Given the description of an element on the screen output the (x, y) to click on. 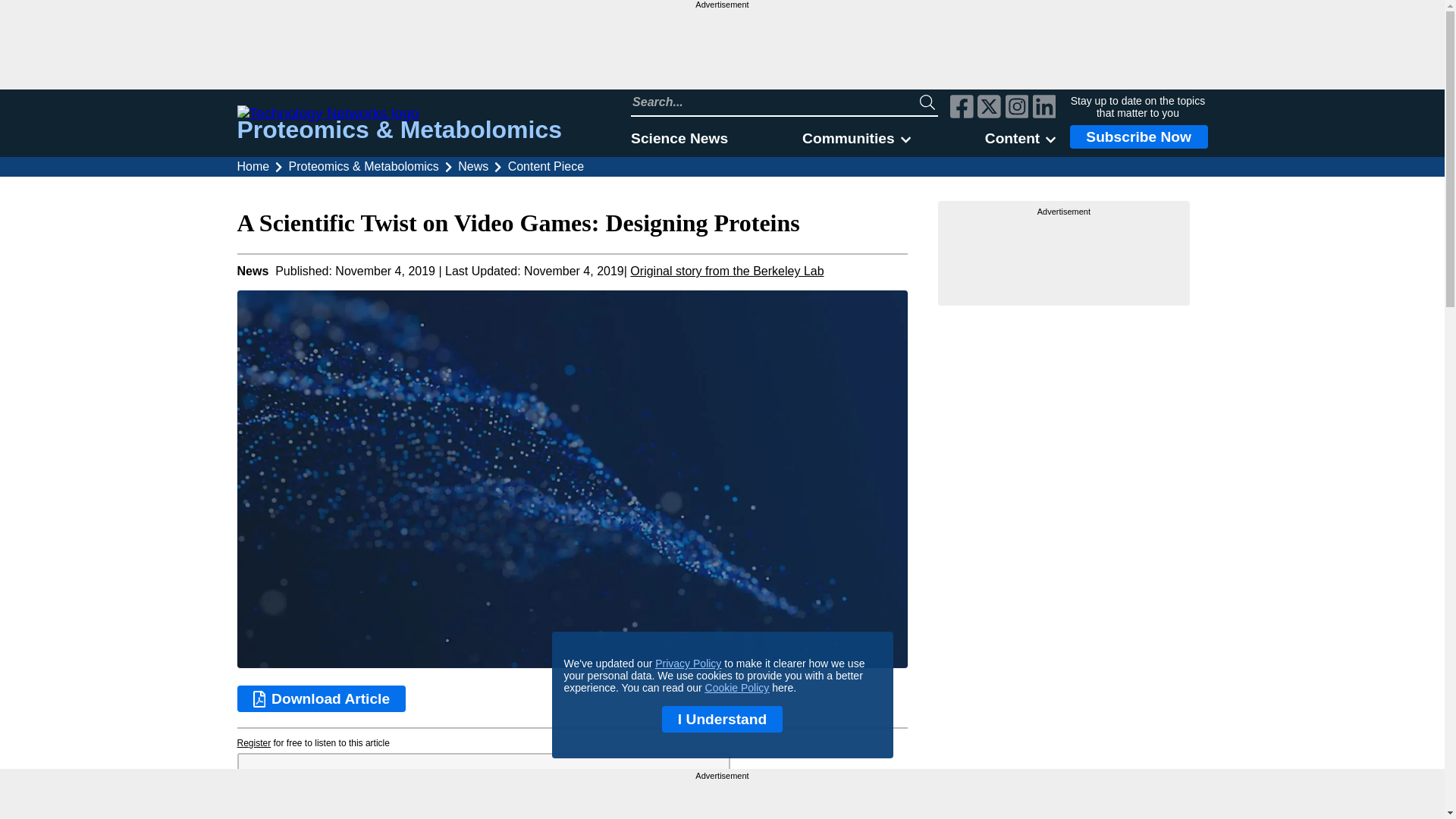
Privacy Policy (687, 663)
Technology Networks logo (398, 113)
Click here to visit the original source for this content. (727, 270)
Search Technology Networks website input field (775, 102)
Cookie Policy (737, 687)
I Understand (722, 718)
